Given the description of an element on the screen output the (x, y) to click on. 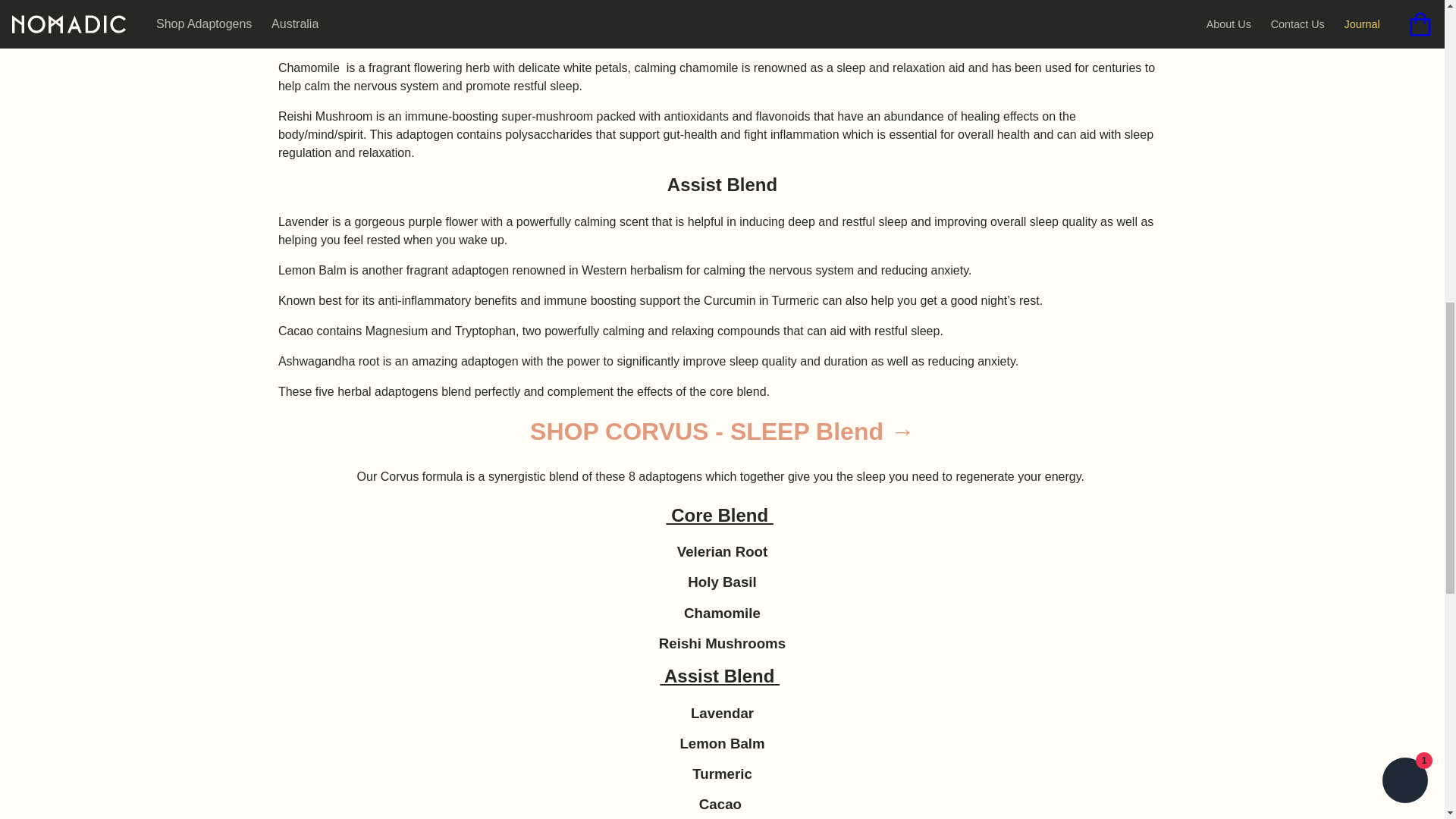
Corvus Sleep Assist Blend For A Full Night's Sleep (721, 431)
